Given the description of an element on the screen output the (x, y) to click on. 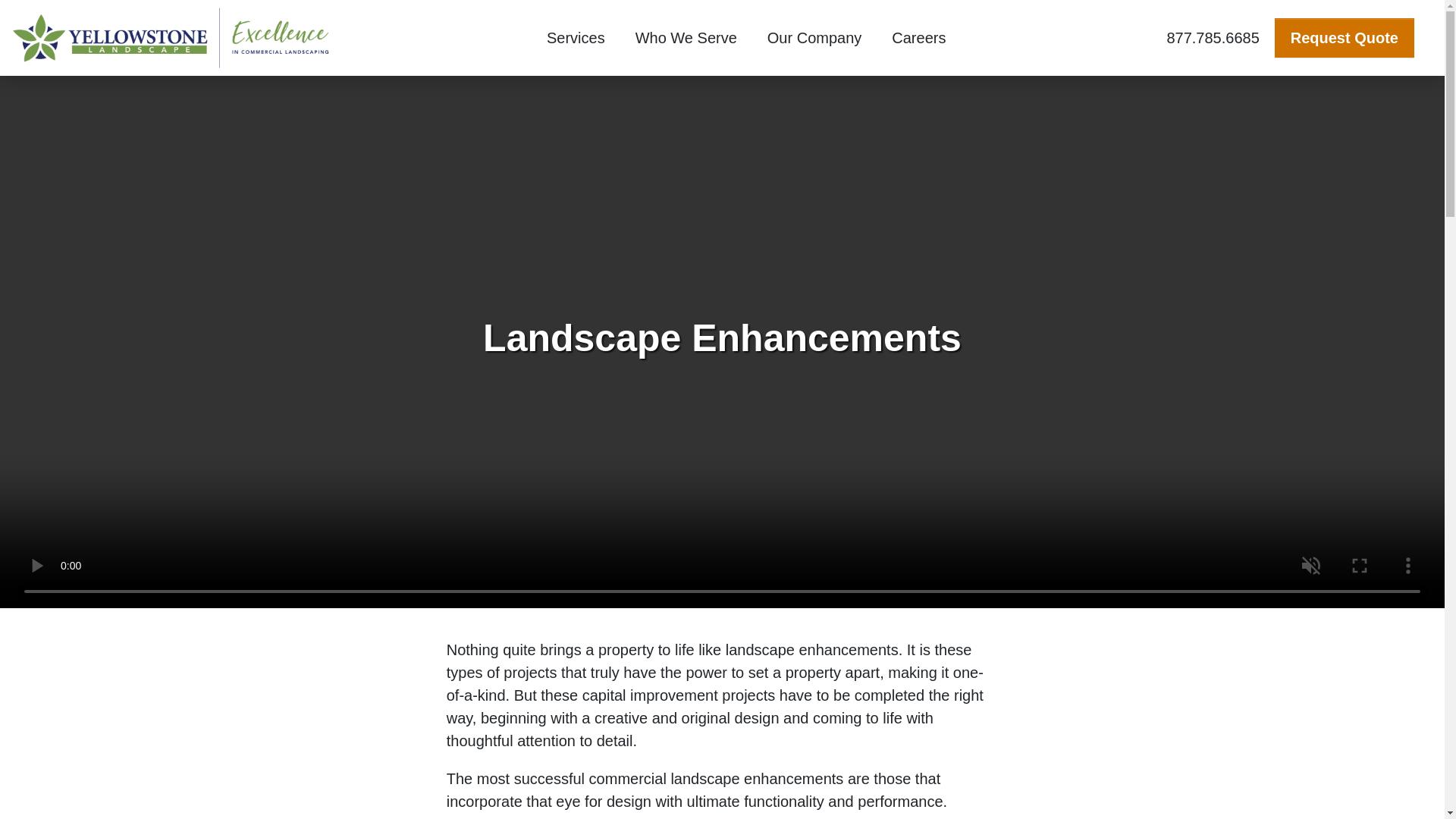
Our Company (814, 38)
Request Quote (1344, 37)
Who We Serve (686, 38)
Services (575, 38)
877.785.6685 (1212, 37)
Careers (918, 38)
